Given the description of an element on the screen output the (x, y) to click on. 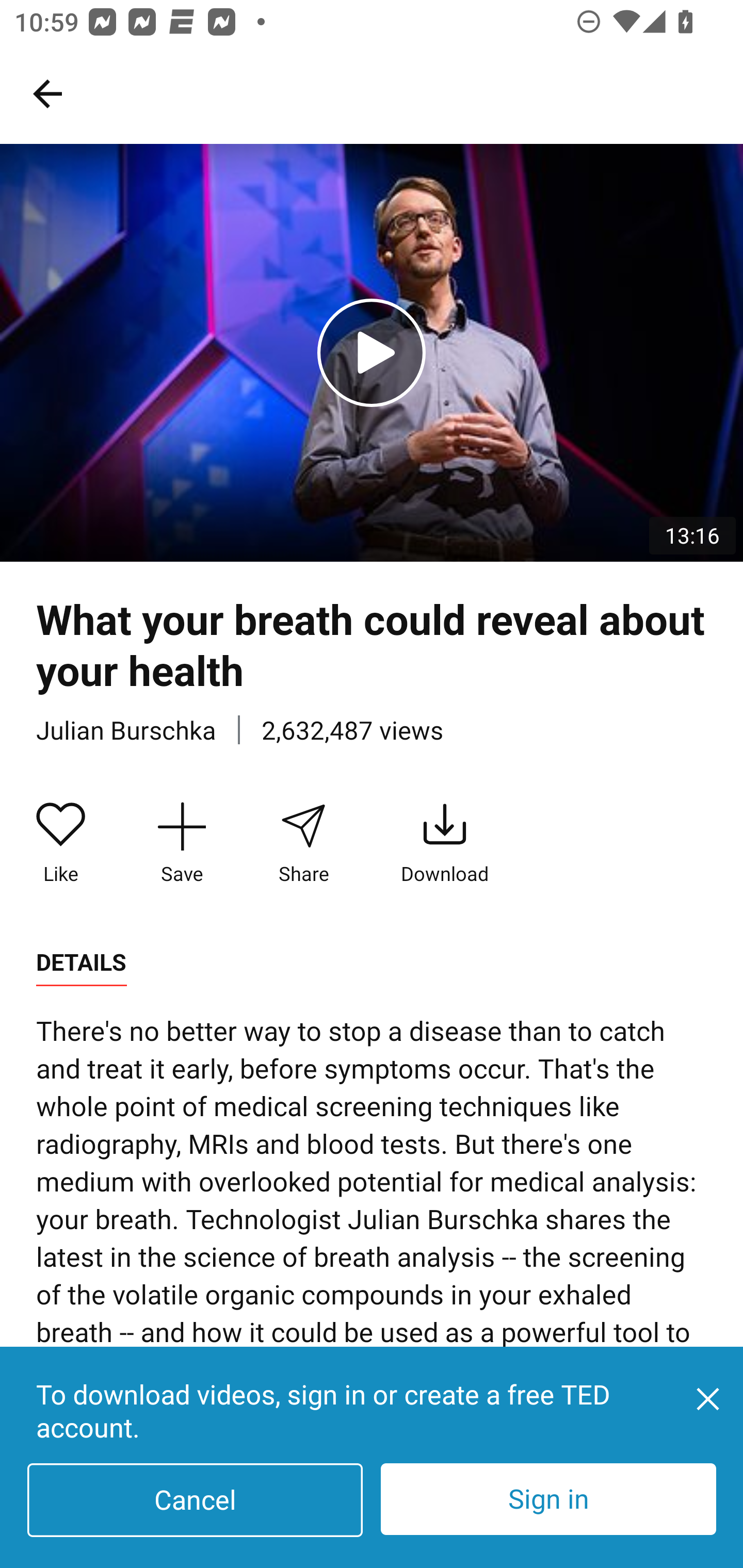
Home, back (47, 92)
Like (60, 843)
Save (181, 843)
Share (302, 843)
Download (444, 843)
DETAILS (80, 962)
Cancel (194, 1499)
Sign in (548, 1498)
